Given the description of an element on the screen output the (x, y) to click on. 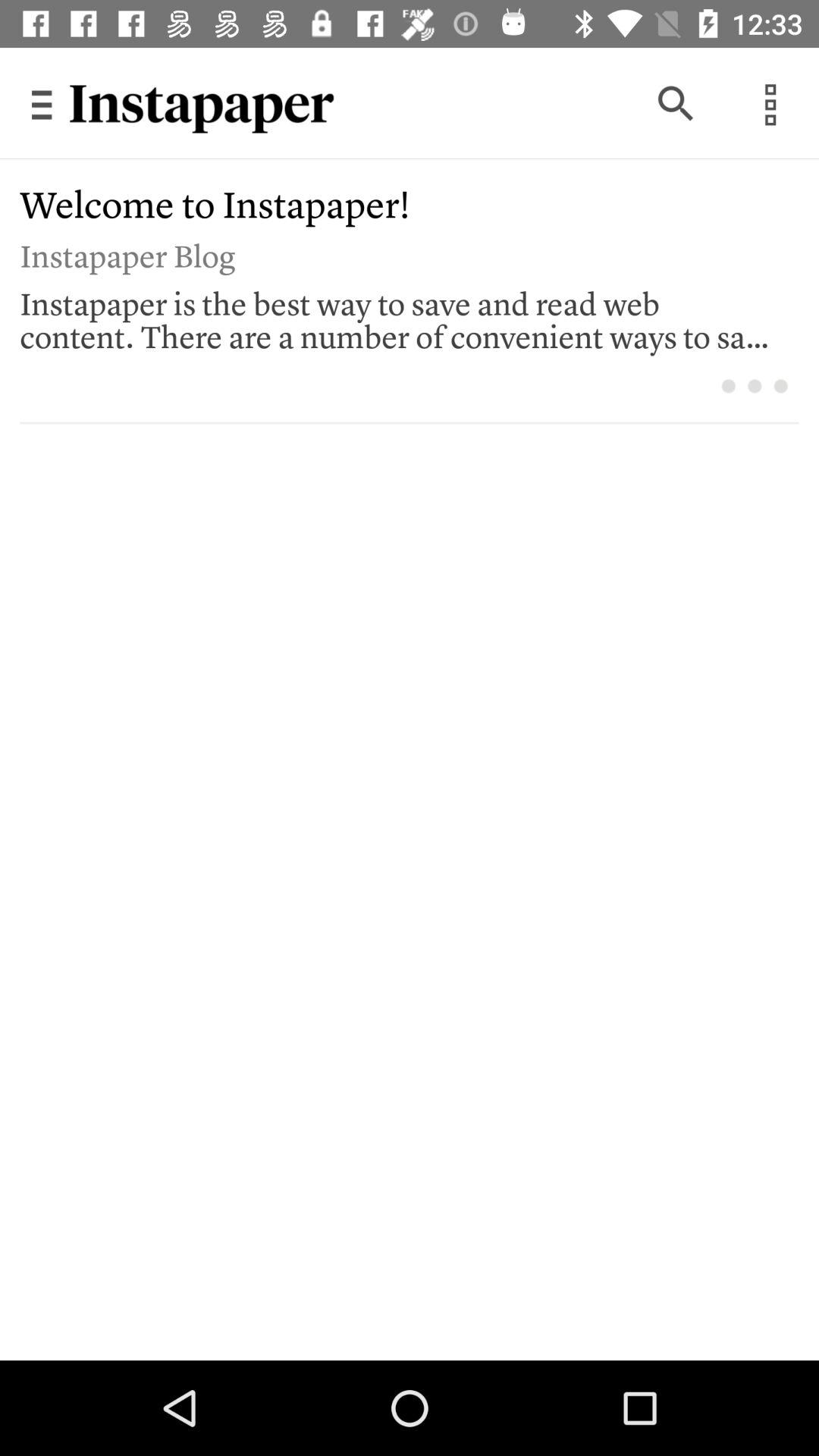
click icon below instapaper is the icon (754, 386)
